Given the description of an element on the screen output the (x, y) to click on. 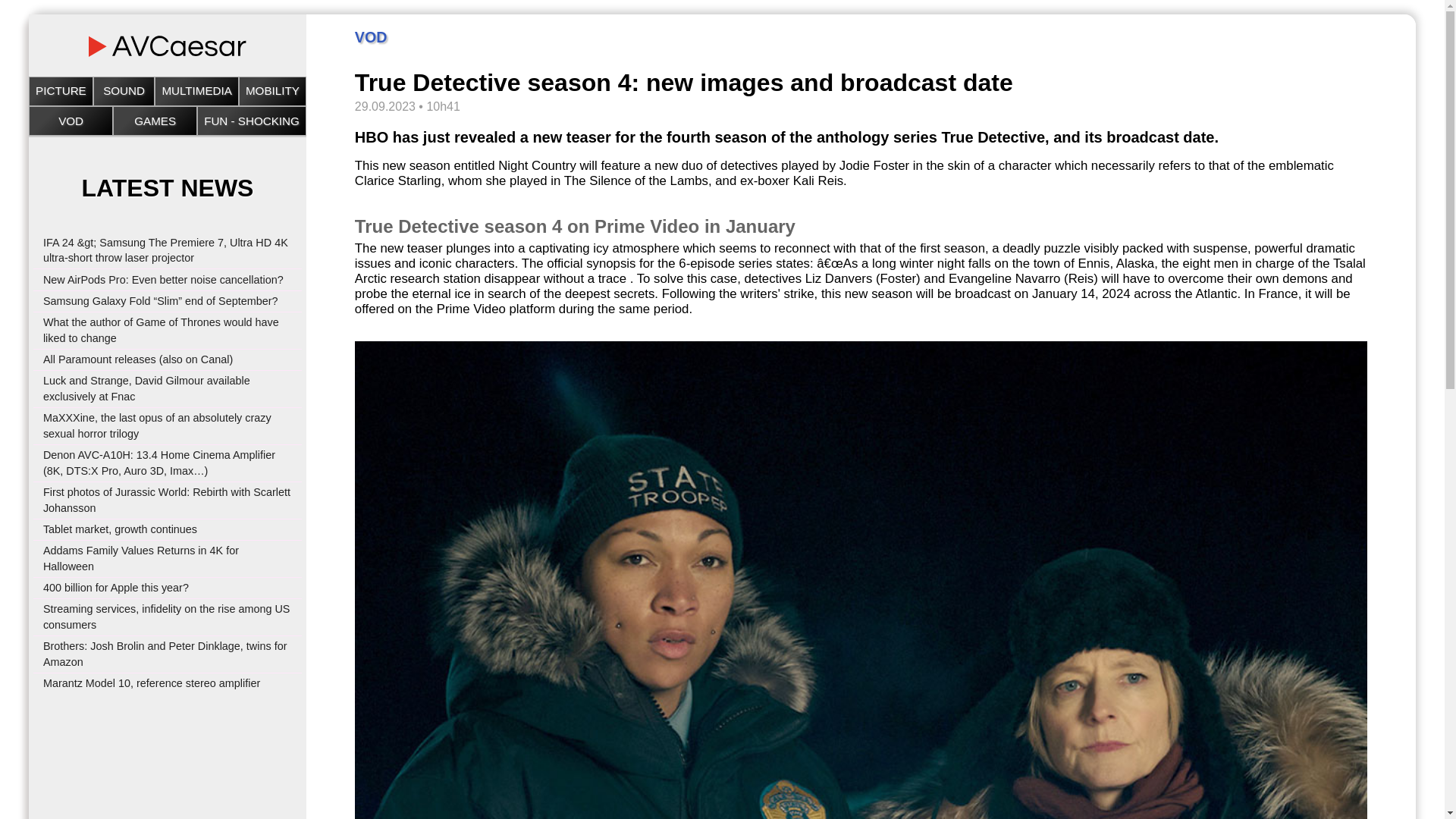
PICTURE (61, 90)
MULTIMEDIA (196, 90)
Marantz Model 10, reference stereo amplifier (151, 683)
VOD (70, 121)
Brothers: Josh Brolin and Peter Dinklage, twins for Amazon (164, 653)
Addams Family Values Returns in 4K for Halloween (140, 558)
FUN - SHOCKING (251, 121)
